Given the description of an element on the screen output the (x, y) to click on. 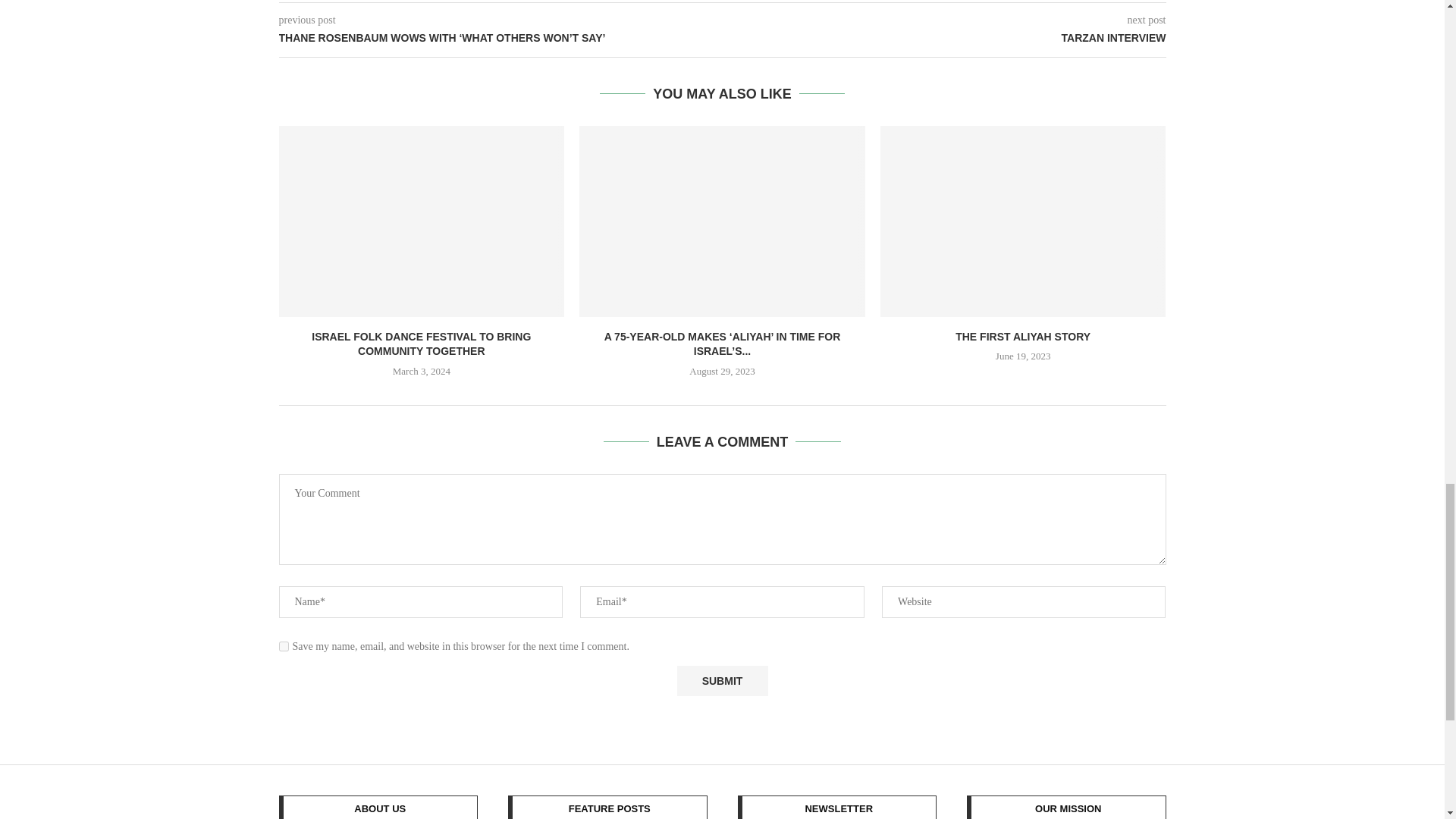
Submit (722, 680)
Israel Folk Dance Festival to bring community together (421, 221)
yes (283, 646)
The First Aliyah Story (1023, 221)
